Given the description of an element on the screen output the (x, y) to click on. 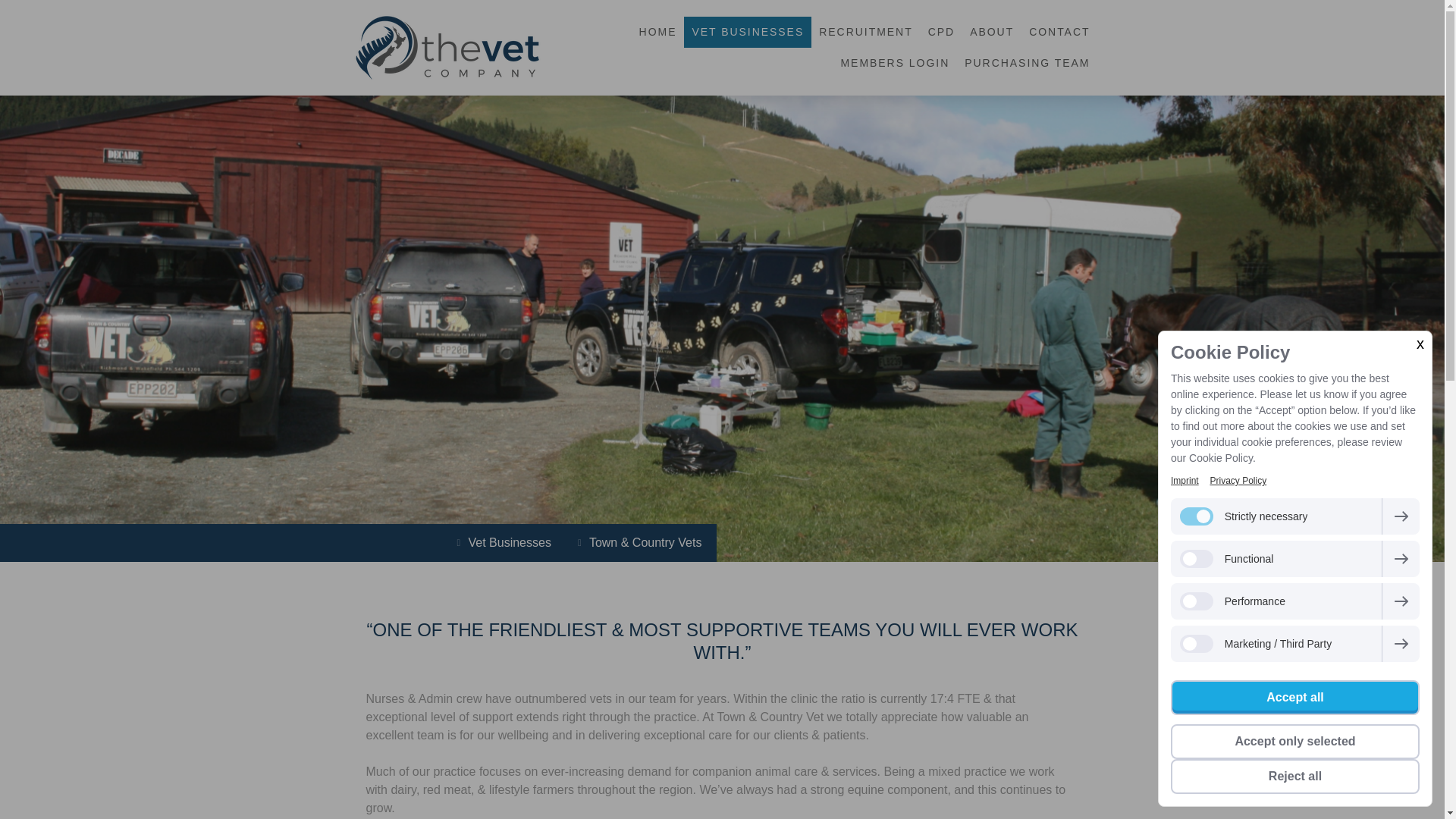
HOME (657, 31)
VET BUSINESSES (747, 31)
RECRUITMENT (865, 31)
